Given the description of an element on the screen output the (x, y) to click on. 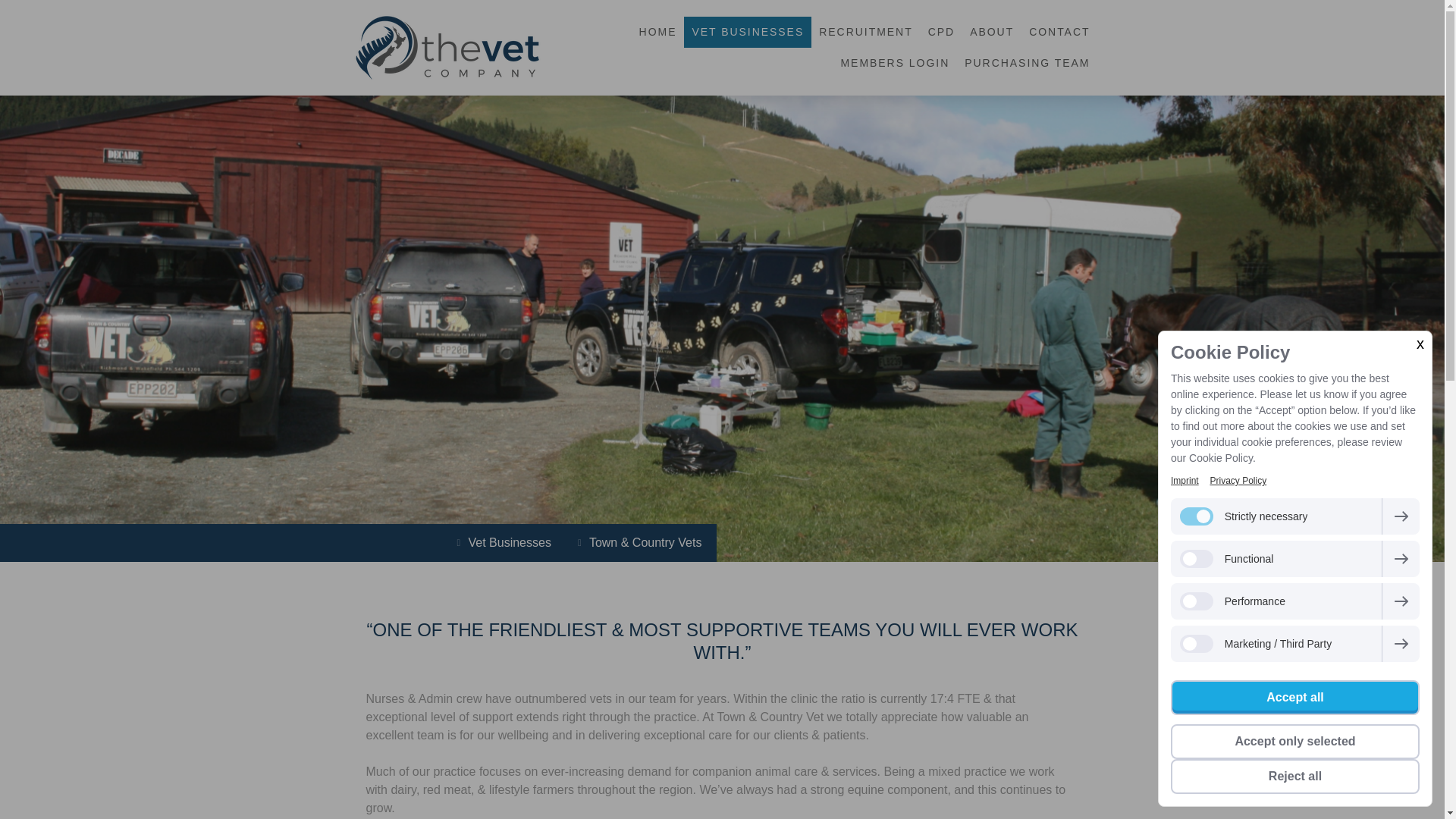
HOME (657, 31)
VET BUSINESSES (747, 31)
RECRUITMENT (865, 31)
